Given the description of an element on the screen output the (x, y) to click on. 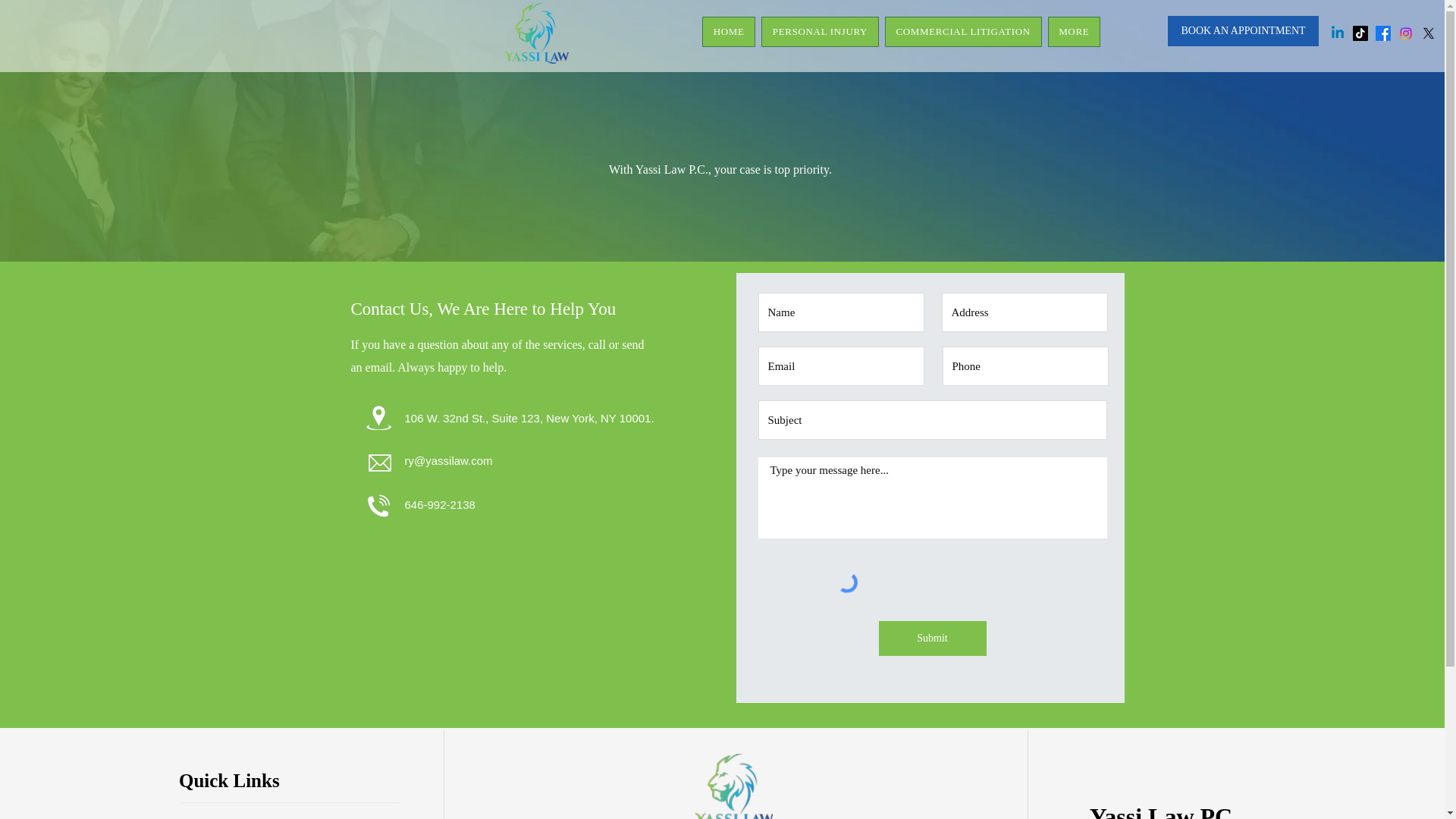
PERSONAL INJURY (820, 31)
BOOK AN APPOINTMENT (1243, 30)
COMMERCIAL LITIGATION (963, 31)
HOME (728, 31)
